Given the description of an element on the screen output the (x, y) to click on. 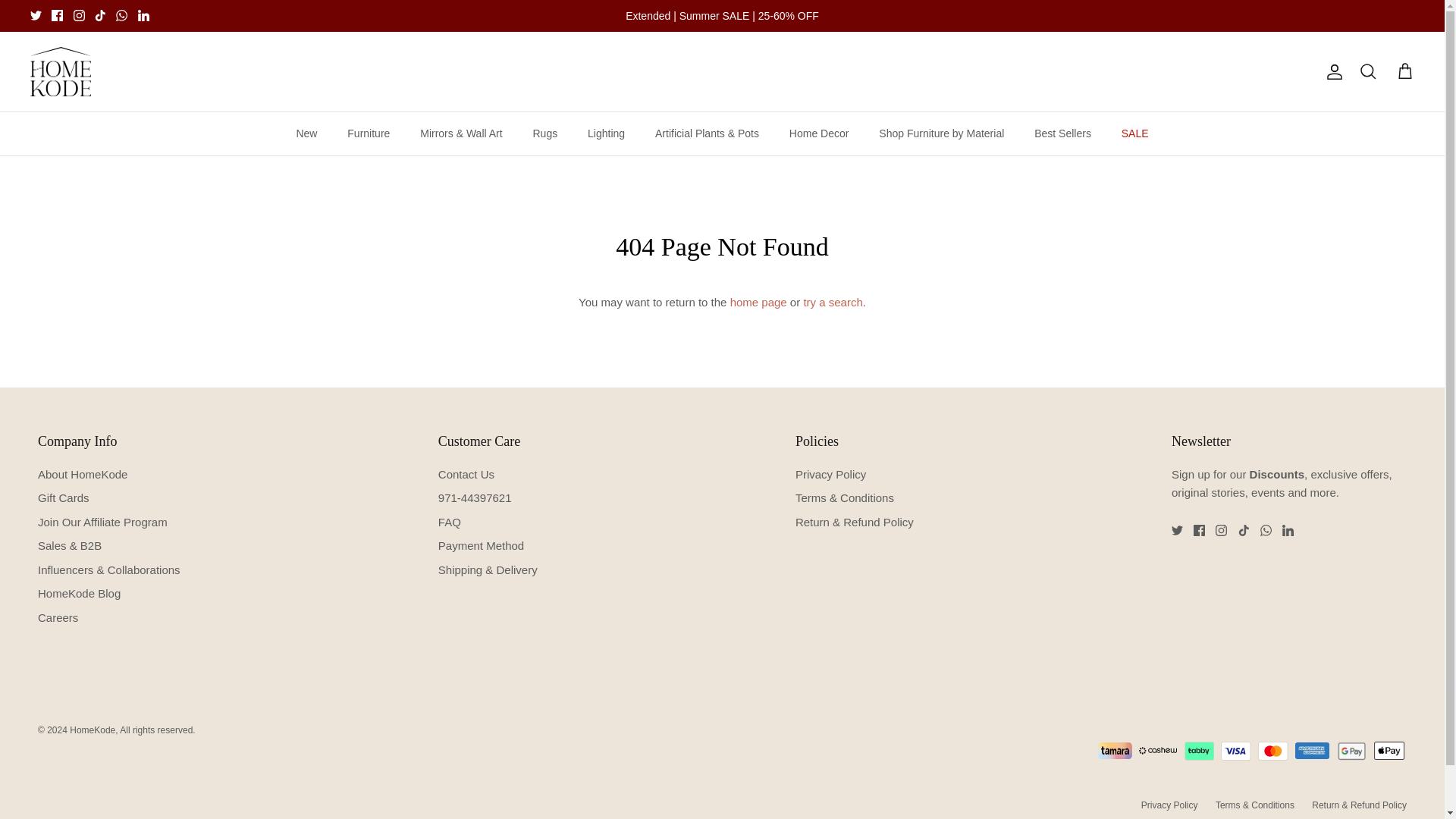
Search (1367, 71)
Instagram (79, 15)
Facebook (56, 15)
Instagram (1221, 530)
Visa (1235, 751)
Mastercard (1272, 751)
Facebook (1199, 530)
Twitter (36, 15)
Furniture (368, 133)
Instagram (79, 15)
